Given the description of an element on the screen output the (x, y) to click on. 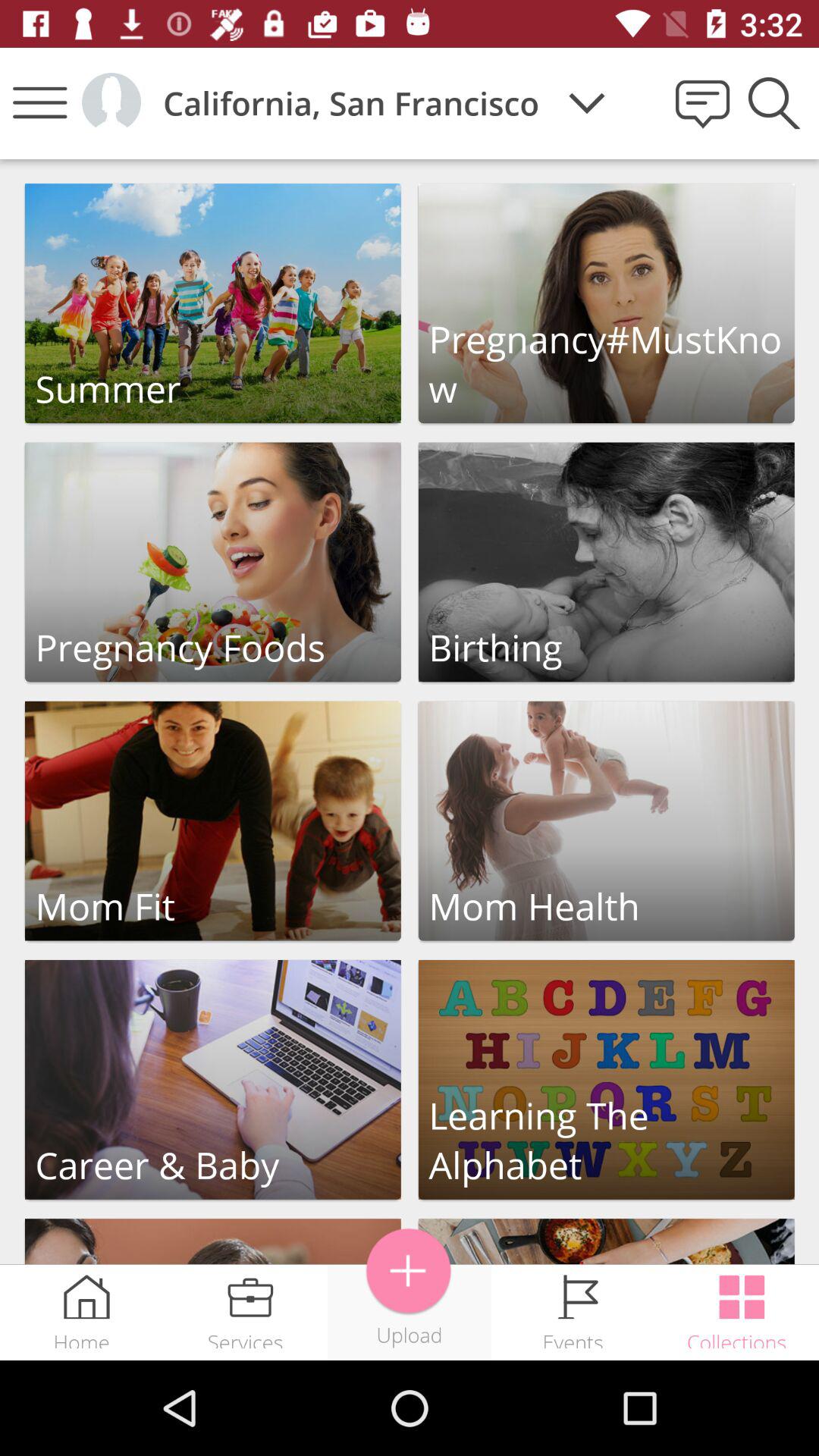
select icon next to the california, san francisco icon (586, 103)
